Given the description of an element on the screen output the (x, y) to click on. 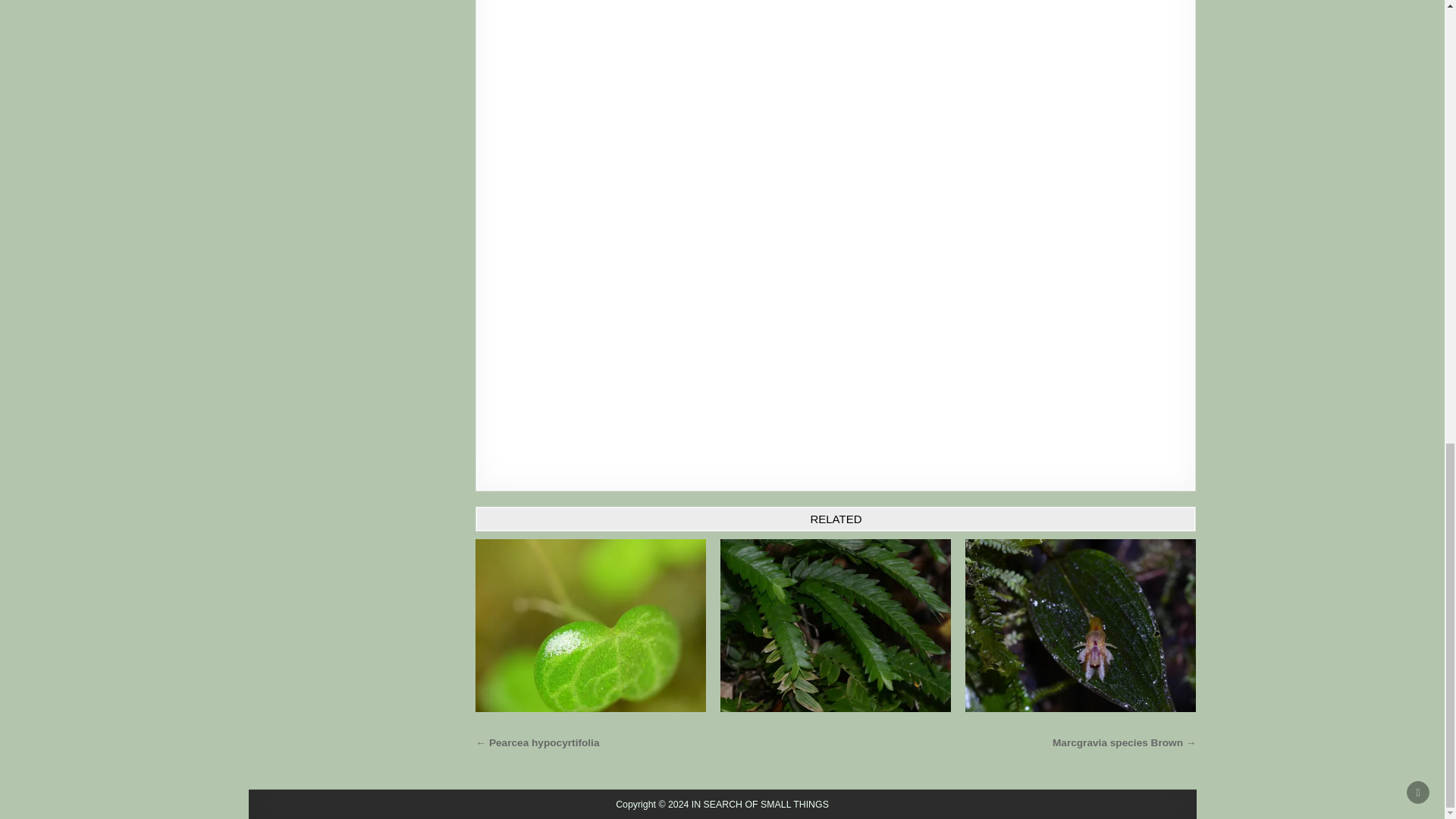
Permanent Link to Cryptochloa species Rambala (835, 624)
Permanent Link to Peperomia emarginella (591, 624)
